Given the description of an element on the screen output the (x, y) to click on. 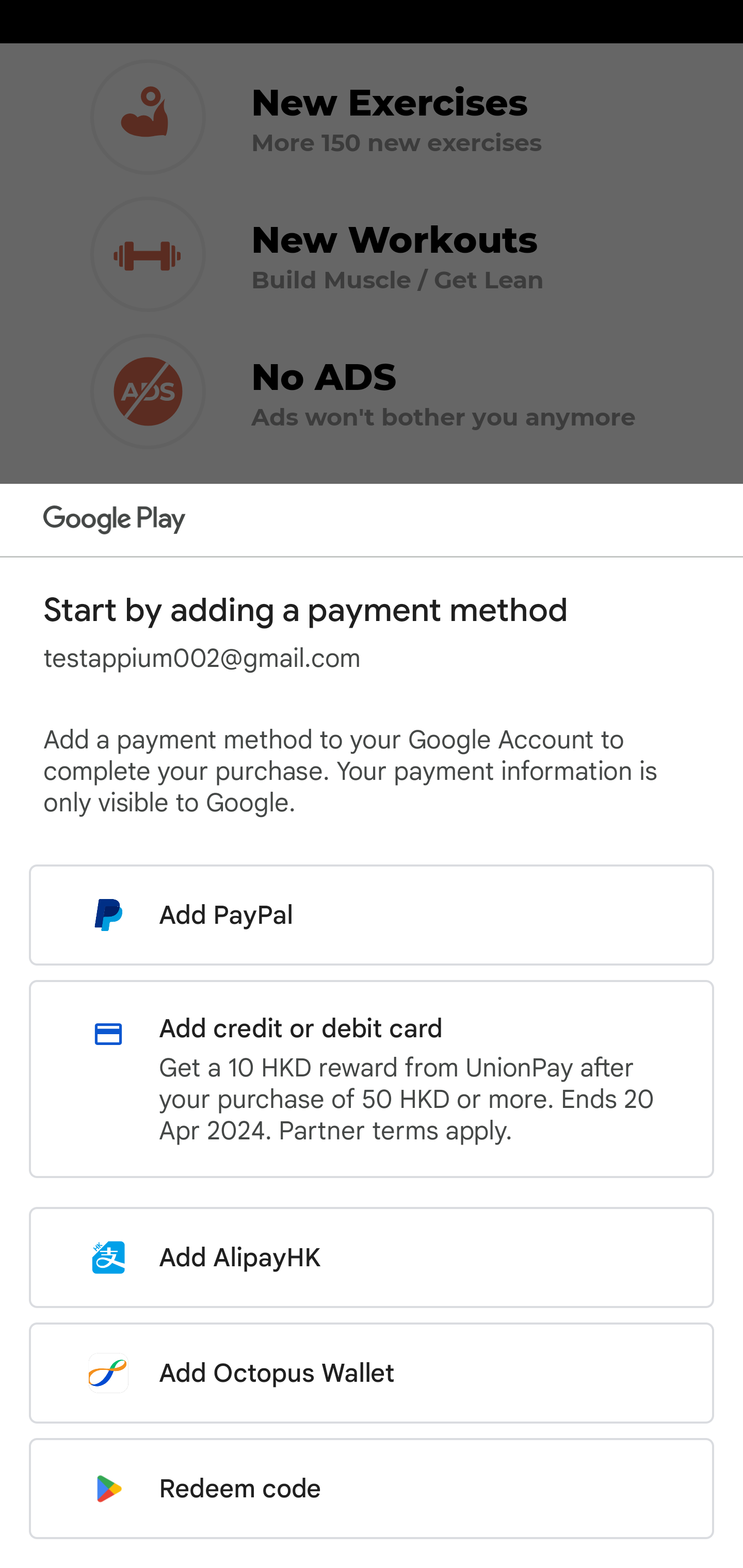
Add PayPal (371, 914)
Add AlipayHK (371, 1257)
Add Octopus Wallet (371, 1372)
Redeem code (371, 1488)
